Given the description of an element on the screen output the (x, y) to click on. 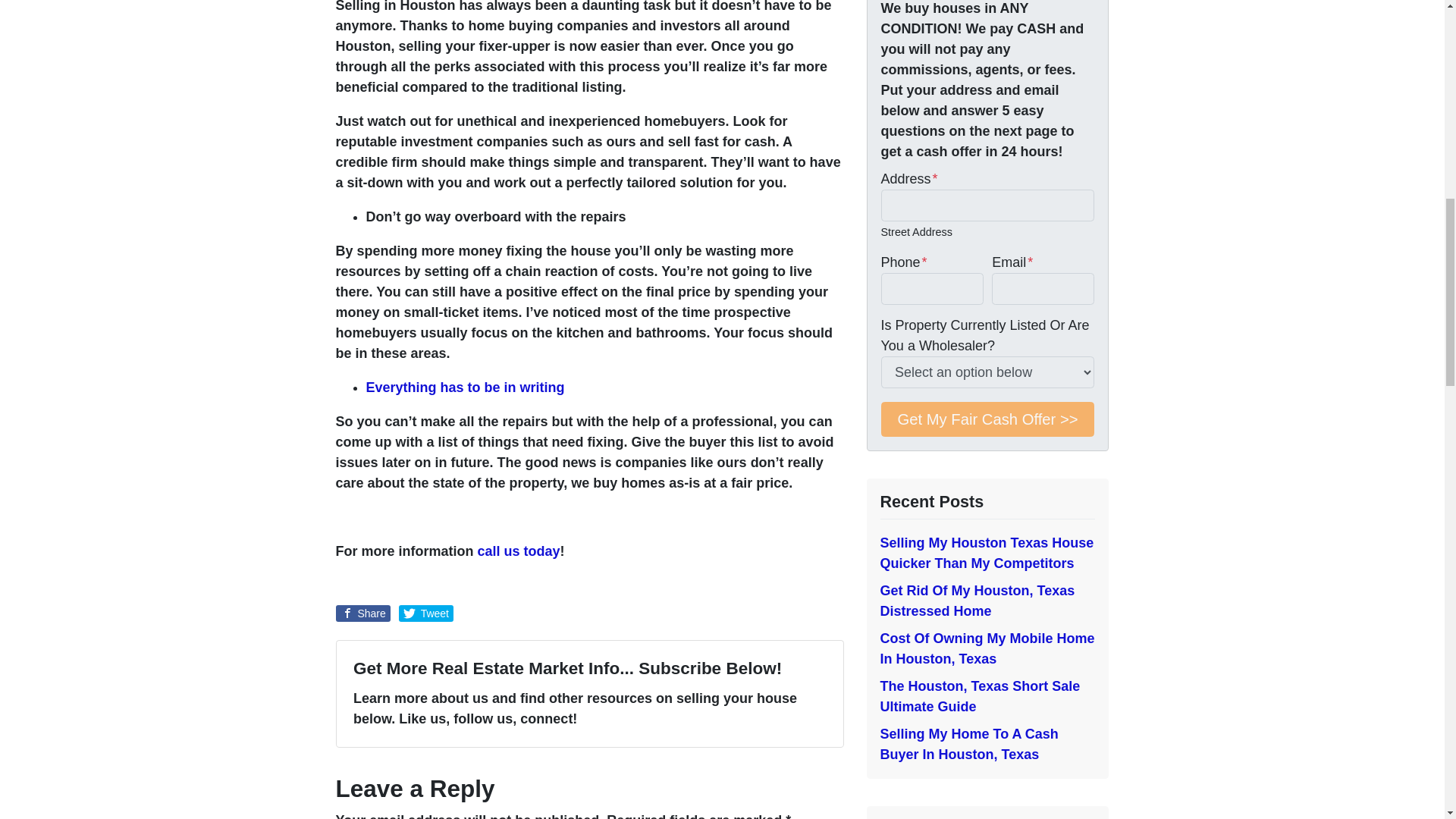
Selling My Houston Texas House Quicker Than My Competitors (986, 552)
Cost Of Owning My Mobile Home In Houston, Texas (986, 648)
Everything has to be in writing (464, 387)
call us today (518, 550)
Selling My Home To A Cash Buyer In Houston, Texas (968, 744)
Share on Facebook (362, 613)
Share on Twitter (425, 613)
Get Rid Of My Houston, Texas Distressed Home (976, 601)
Share (362, 613)
The Houston, Texas Short Sale Ultimate Guide (979, 696)
Tweet (425, 613)
